Given the description of an element on the screen output the (x, y) to click on. 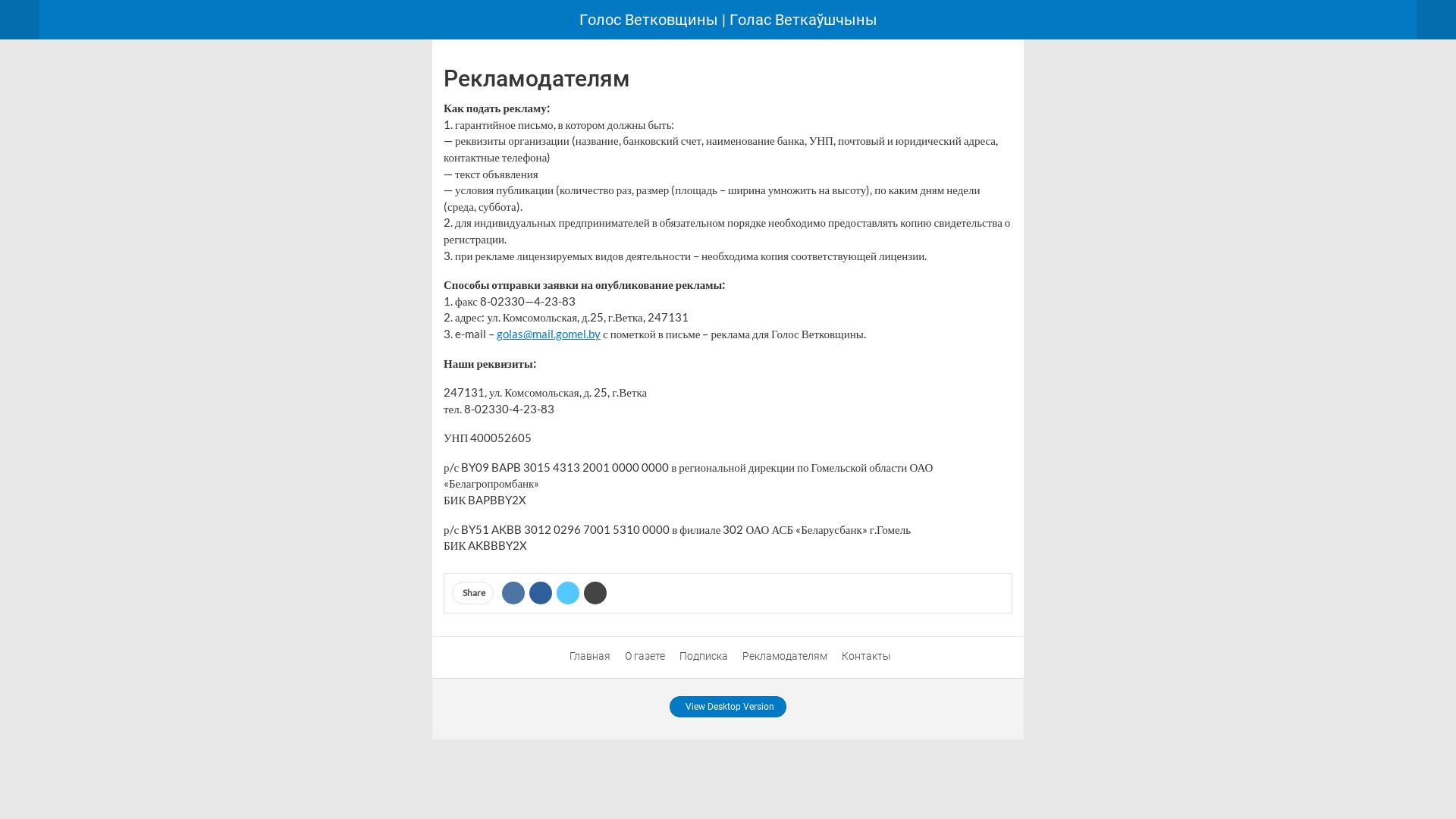
View Desktop Version Element type: text (727, 706)
golas@mail.gomel.by Element type: text (548, 333)
